Given the description of an element on the screen output the (x, y) to click on. 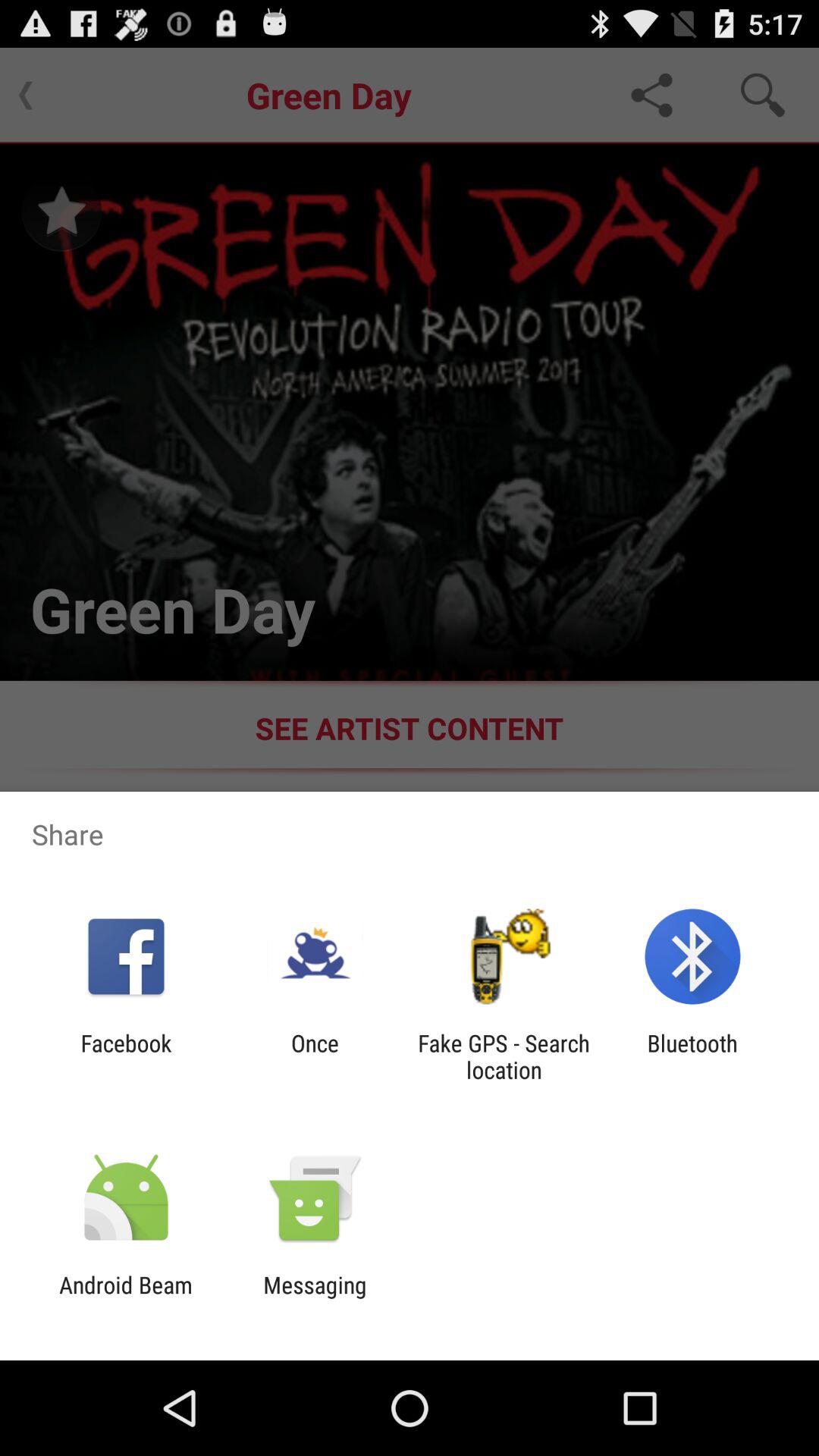
press the icon next to the facebook (314, 1056)
